Given the description of an element on the screen output the (x, y) to click on. 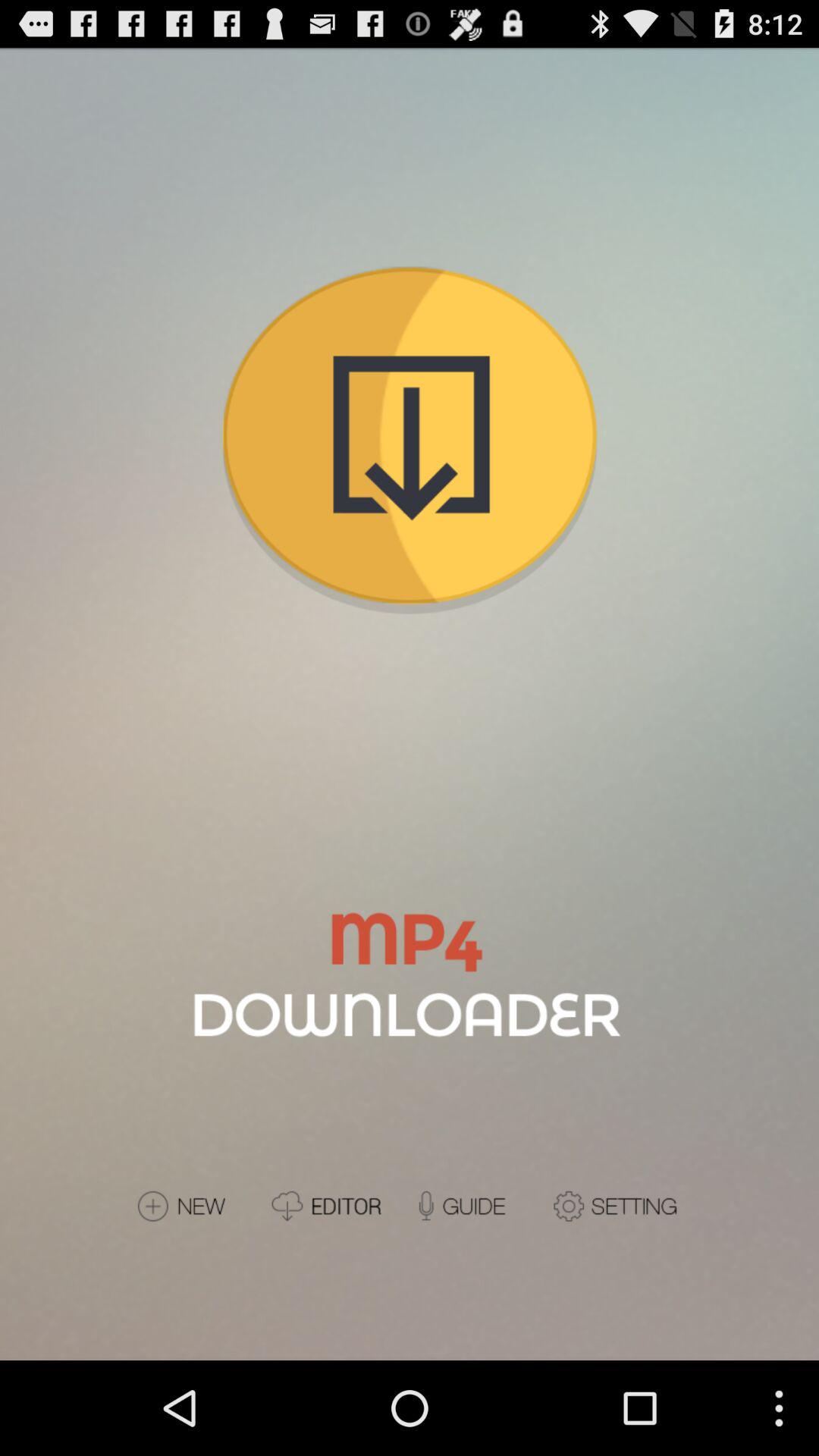
settings (617, 1206)
